Given the description of an element on the screen output the (x, y) to click on. 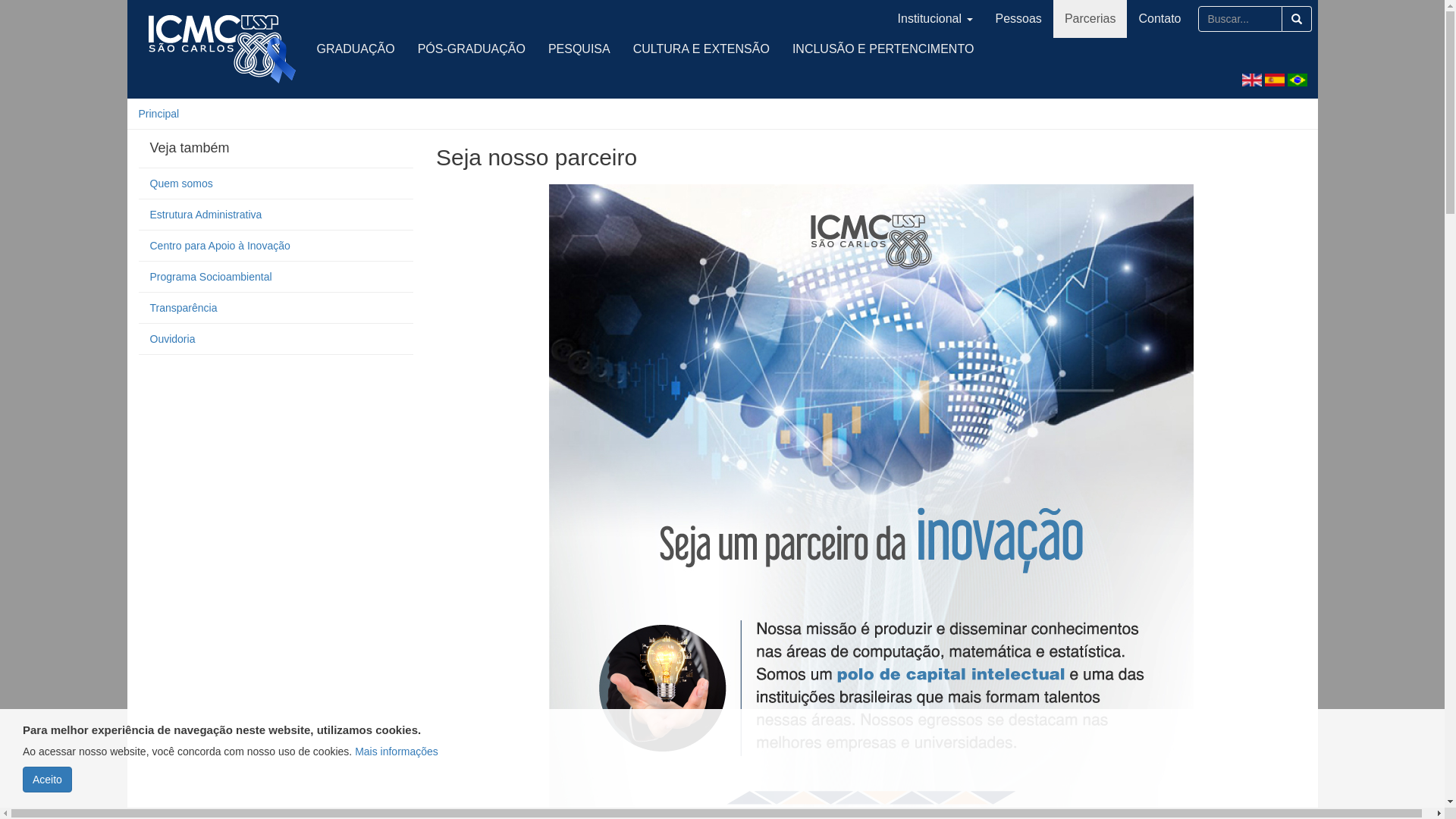
Quem somos Element type: text (275, 183)
PESQUISA Element type: text (578, 49)
Institucional Element type: text (935, 18)
Ouvidoria Element type: text (275, 338)
Parcerias Element type: text (1090, 18)
Pessoas Element type: text (1018, 18)
English Element type: hover (1251, 79)
Programa Socioambiental Element type: text (275, 276)
Principal Element type: text (158, 113)
Contato Element type: text (1159, 18)
Estrutura Administrativa Element type: text (275, 214)
